Given the description of an element on the screen output the (x, y) to click on. 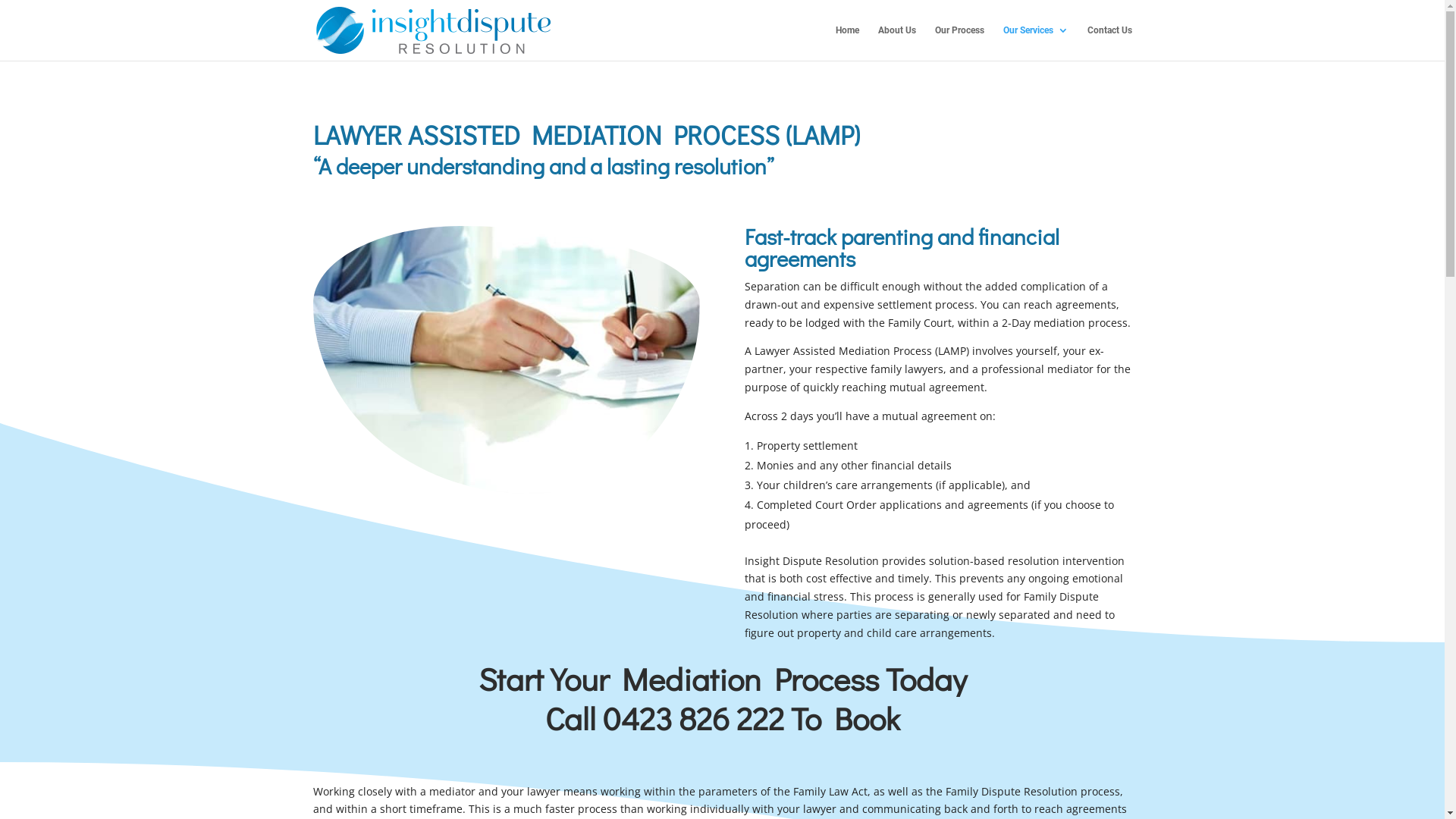
About Us Element type: text (897, 42)
Our Services Element type: text (1034, 42)
Contact Us Element type: text (1109, 42)
0423 826 222 Element type: text (693, 717)
Home Element type: text (847, 42)
Our Process Element type: text (958, 42)
